Given the description of an element on the screen output the (x, y) to click on. 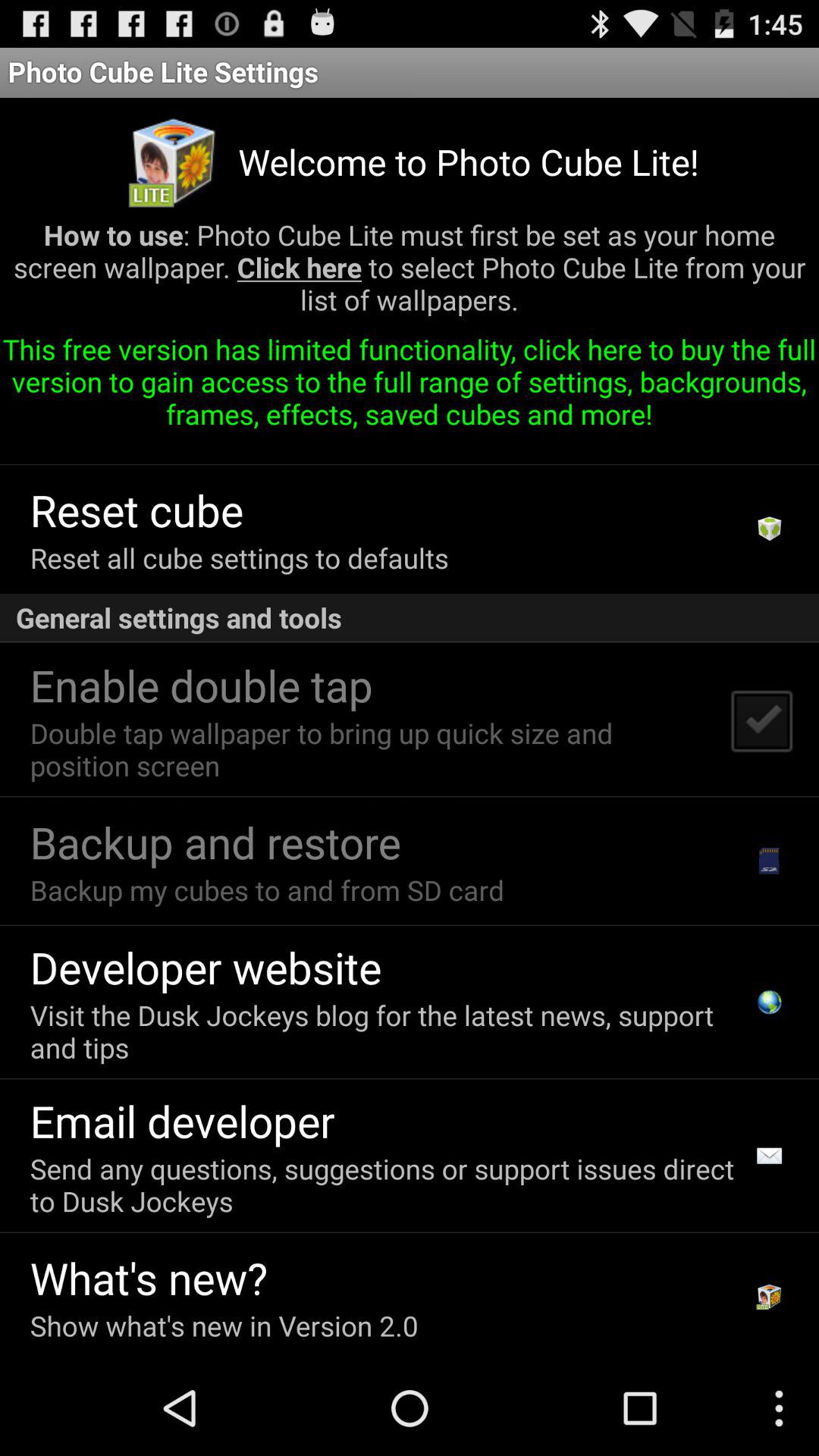
turn on the icon above the send any questions (182, 1120)
